Given the description of an element on the screen output the (x, y) to click on. 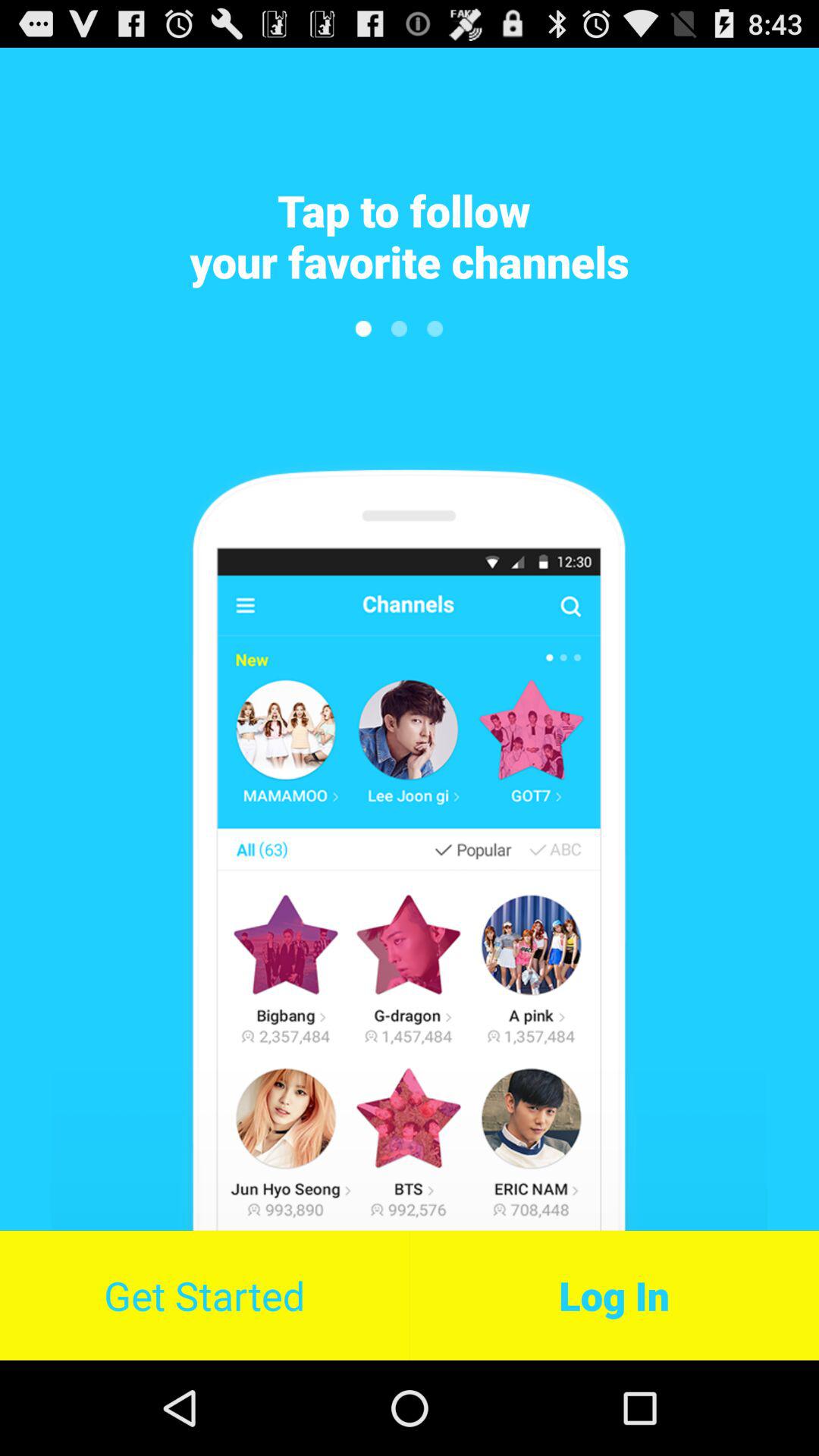
tap the item at the bottom right corner (614, 1295)
